Given the description of an element on the screen output the (x, y) to click on. 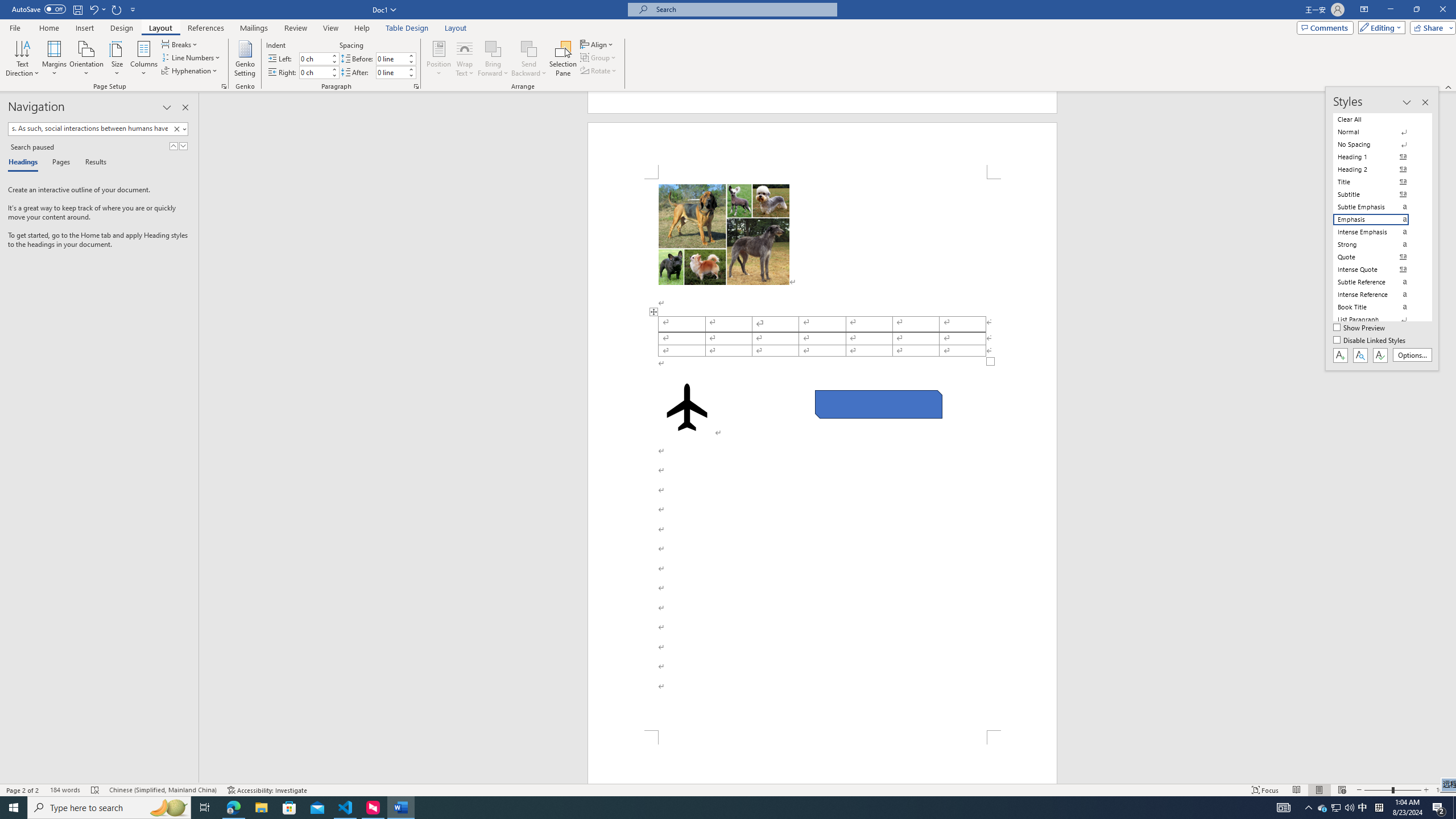
Text Direction (22, 58)
List Paragraph (1377, 319)
